Given the description of an element on the screen output the (x, y) to click on. 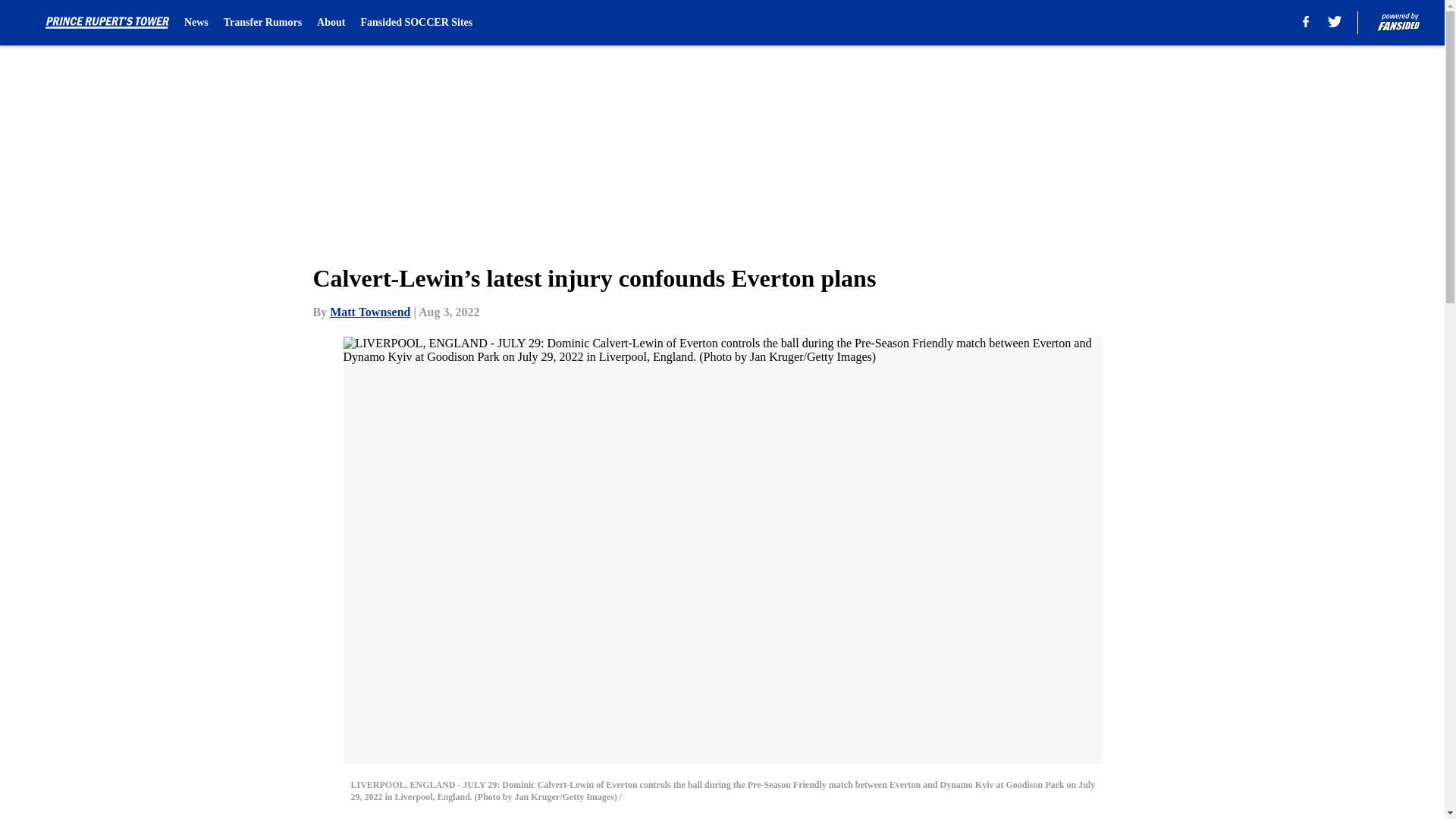
Fansided SOCCER Sites (415, 22)
Matt Townsend (370, 311)
Transfer Rumors (262, 22)
About (331, 22)
News (196, 22)
